Given the description of an element on the screen output the (x, y) to click on. 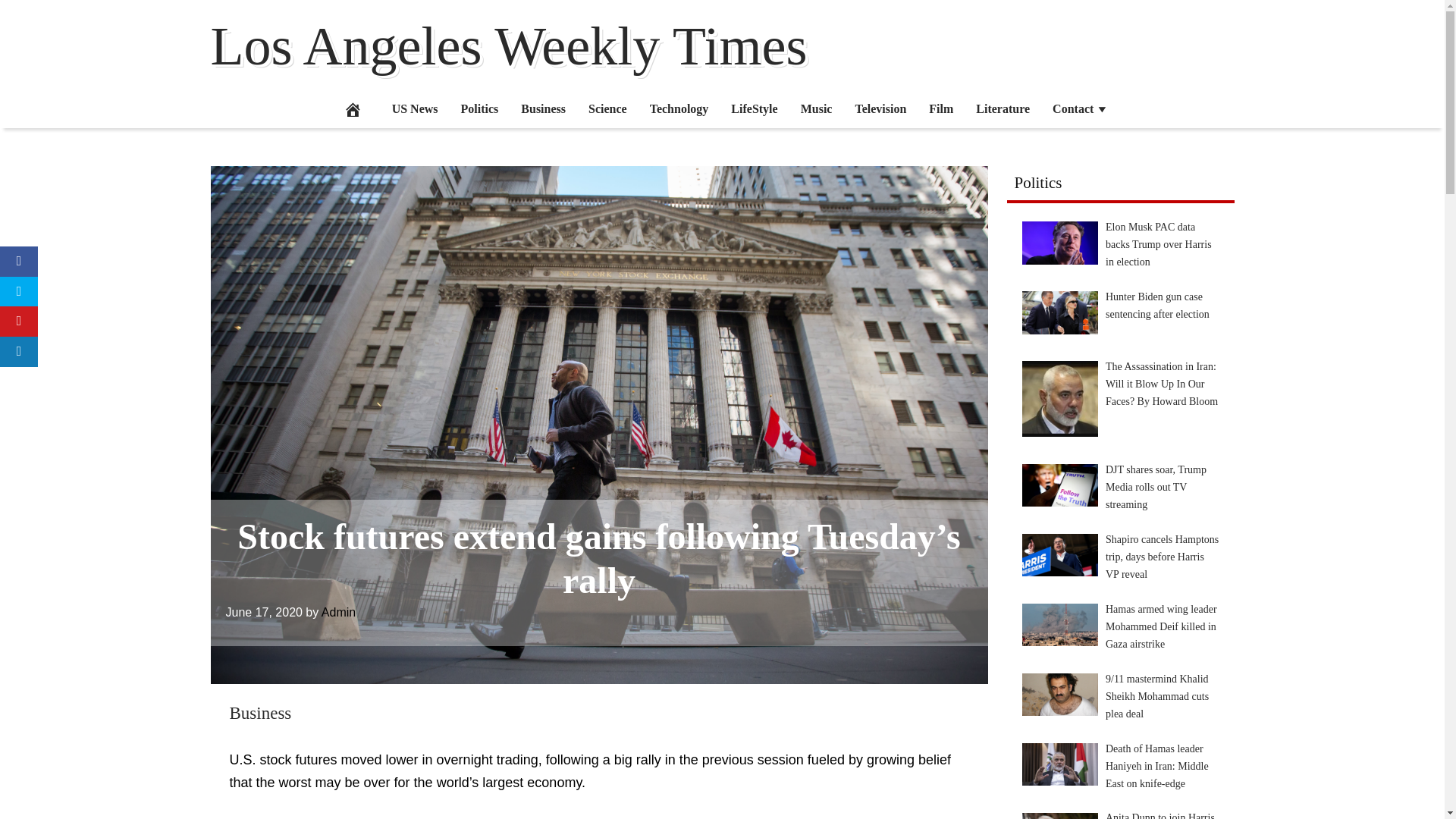
Contact (1080, 108)
Business (542, 108)
Hunter Biden gun case sentencing after election (1059, 312)
Technology (679, 108)
Business (259, 712)
Television (880, 108)
Science (607, 108)
Music (816, 108)
Politics (480, 108)
US News (414, 108)
Los Angeles Weekly Times (509, 45)
Anita Dunn to join Harris super PAC (1059, 816)
Shapiro cancels Hamptons trip, days before Harris VP reveal (1059, 554)
